Given the description of an element on the screen output the (x, y) to click on. 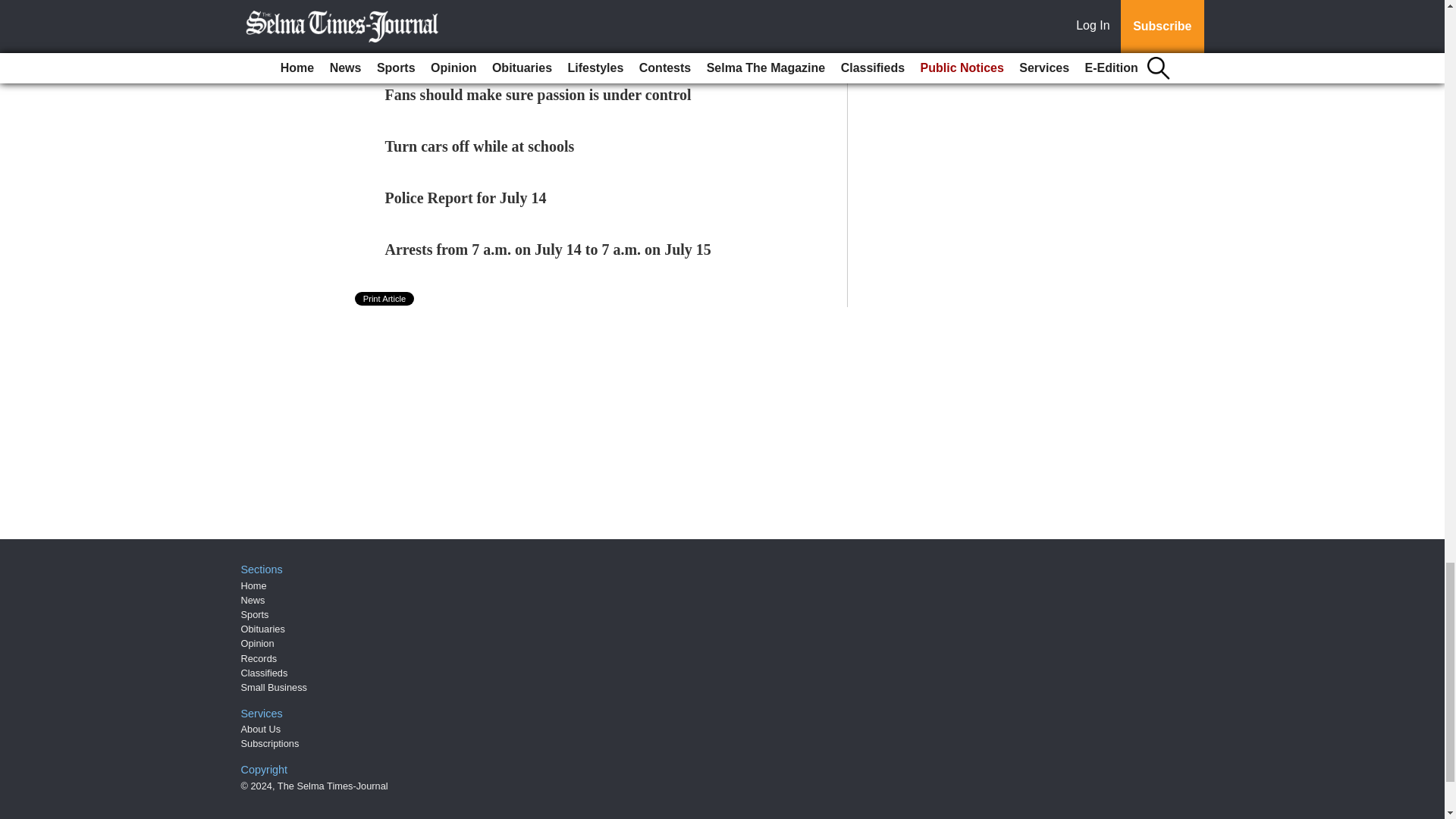
Home (253, 585)
Arrests from 7 a.m. on July 14 to 7 a.m. on July 15 (548, 248)
Turn cars off while at schools (480, 146)
Police Report for July 14 (466, 197)
Print Article (384, 298)
Turn cars off while at schools (480, 146)
Arrests from 7 a.m. on July 14 to 7 a.m. on July 15 (548, 248)
Fans should make sure passion is under control (538, 94)
Police Report for July 14 (466, 197)
Fans should make sure passion is under control (538, 94)
